Given the description of an element on the screen output the (x, y) to click on. 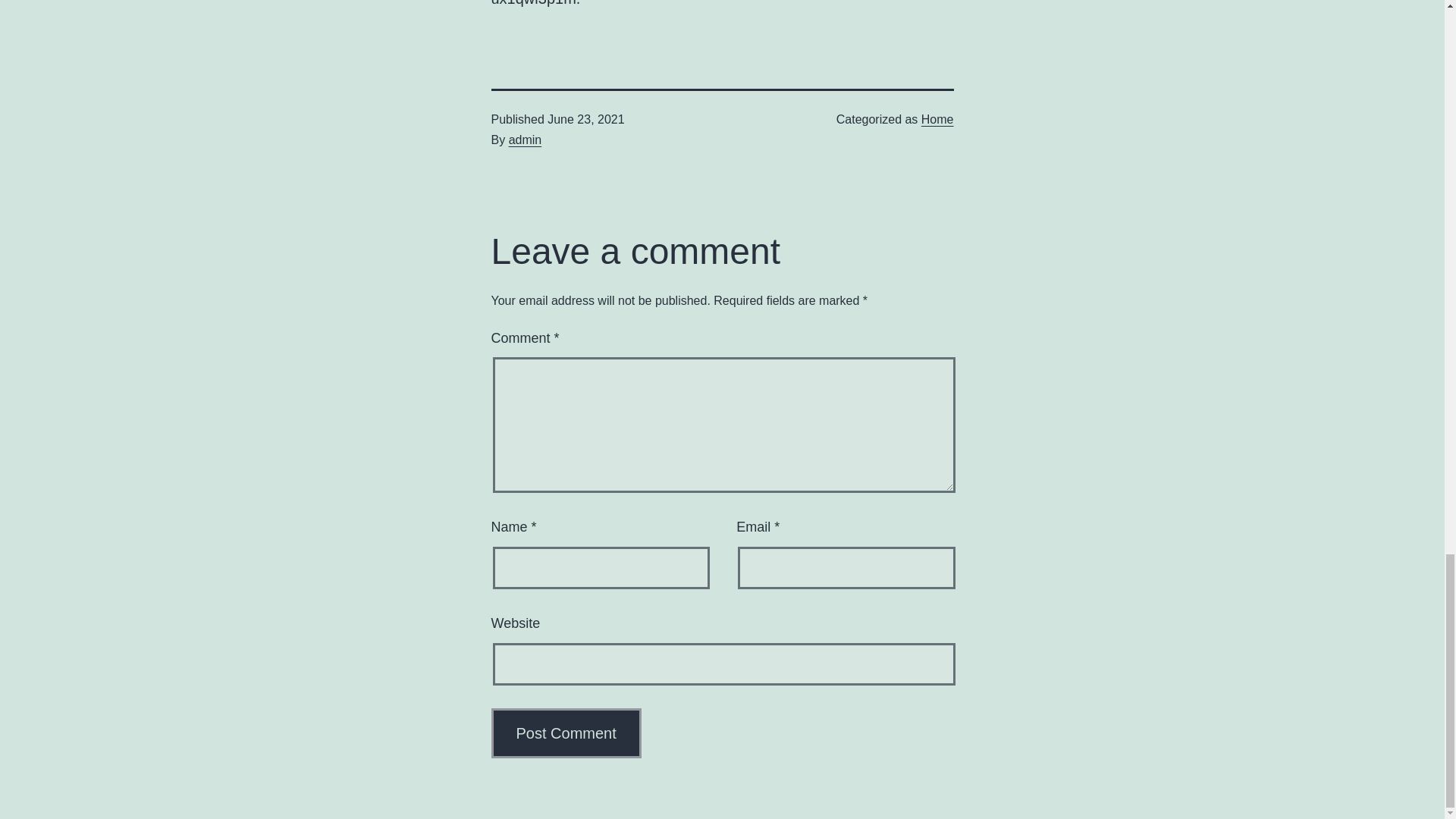
admin (524, 139)
Post Comment (567, 733)
Home (937, 119)
Post Comment (567, 733)
